Given the description of an element on the screen output the (x, y) to click on. 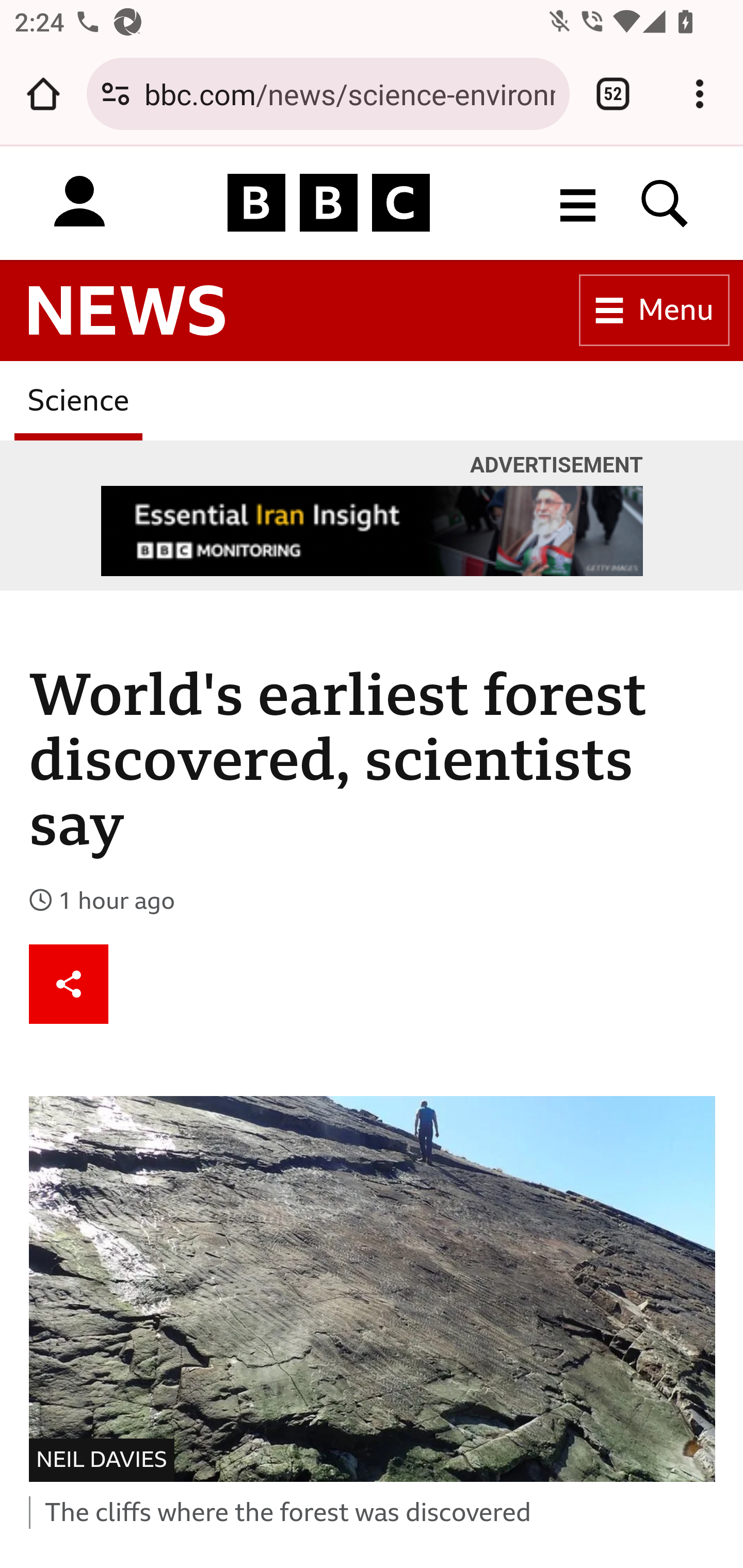
Open the home page (43, 93)
Connection is secure (115, 93)
Switch or close tabs (612, 93)
Customize and control Google Chrome (699, 93)
bbc.com/news/science-environment-68500649 (349, 92)
Sign in (79, 202)
BBC Homepage (329, 202)
More menu (578, 202)
Search BBC (665, 202)
BBC News (126, 311)
Menu (654, 310)
Science (78, 400)
Share (68, 983)
